Given the description of an element on the screen output the (x, y) to click on. 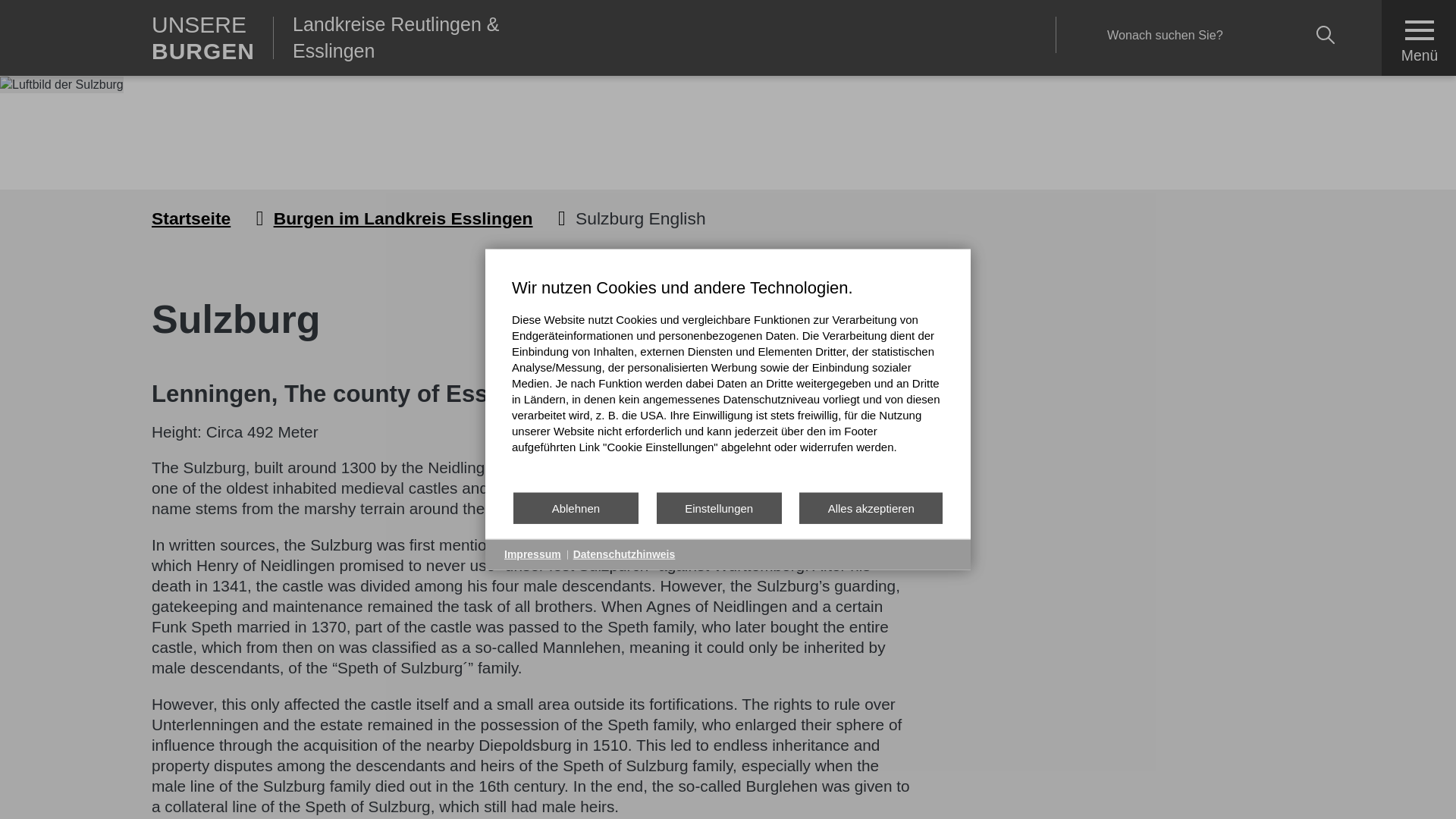
Link zur Startseite (212, 37)
Luftbild der Sulzburg (61, 84)
on (1386, 4)
